Given the description of an element on the screen output the (x, y) to click on. 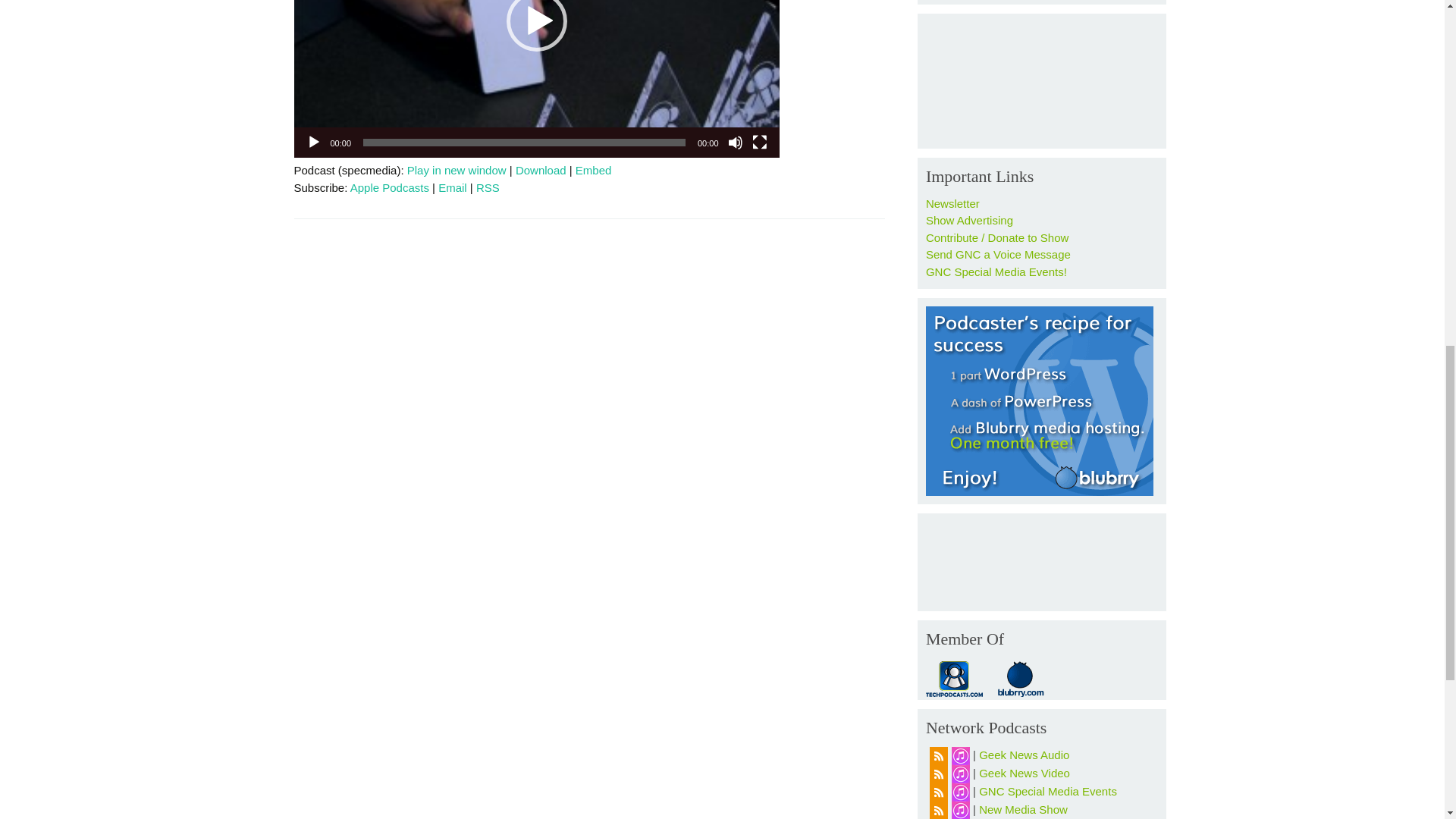
Download (540, 169)
Apple Podcasts (389, 187)
Play in new window (456, 169)
RSS (487, 187)
Fullscreen (759, 142)
Play in new window (456, 169)
Embed (593, 169)
Email (452, 187)
Subscribe on Apple Podcasts (389, 187)
Play (313, 142)
Subscribe via RSS (487, 187)
Mute (735, 142)
Embed (593, 169)
Download (540, 169)
Subscribe by Email (452, 187)
